Given the description of an element on the screen output the (x, y) to click on. 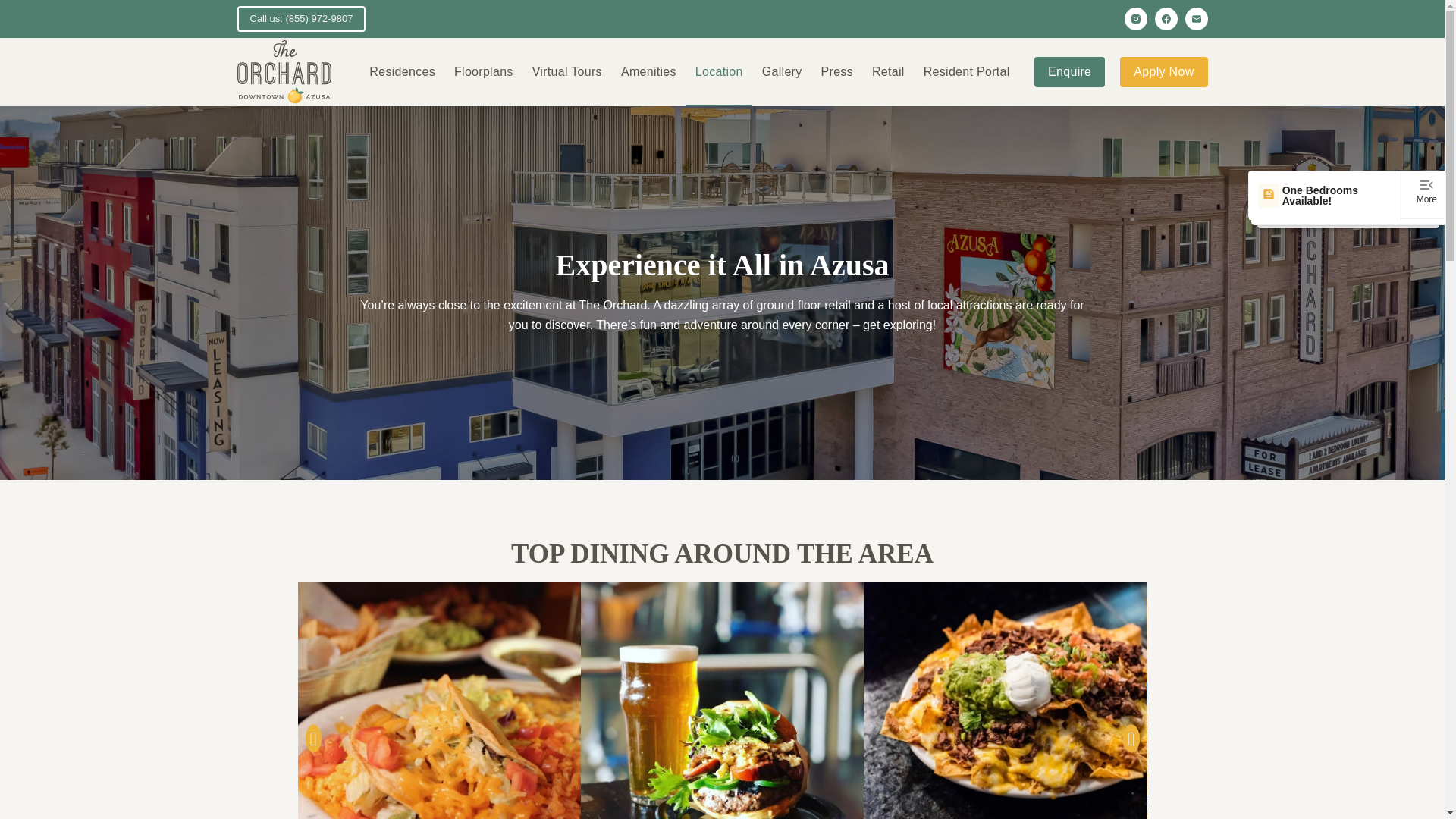
Apply Now (1163, 71)
Floorplans (483, 71)
Virtual Tours (566, 71)
Resident Portal (966, 71)
Location (718, 71)
Amenities (648, 71)
Residences (402, 71)
Skip to content (15, 7)
Enquire (1069, 71)
